Given the description of an element on the screen output the (x, y) to click on. 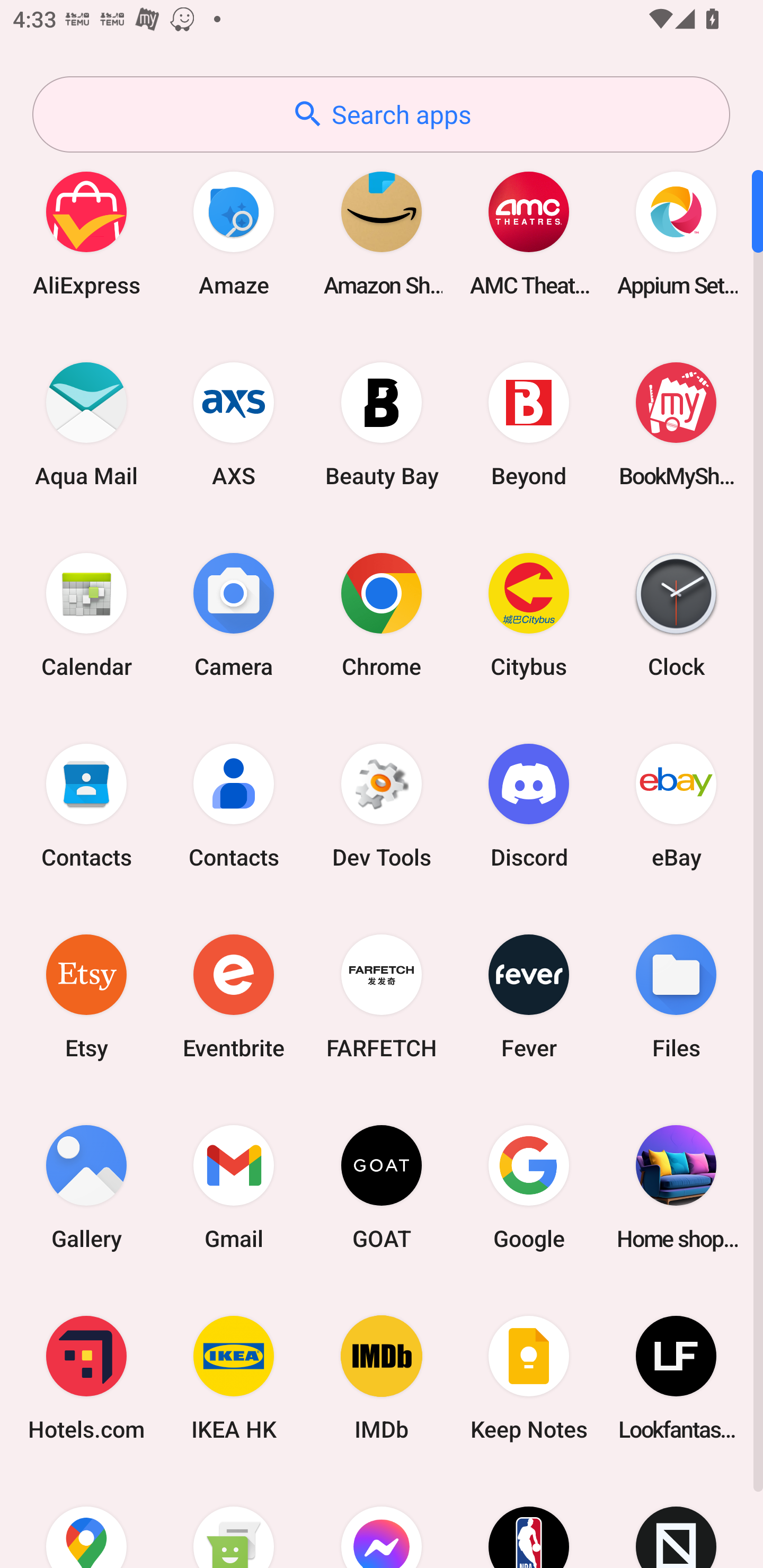
  Search apps (381, 114)
AliExpress (86, 233)
Amaze (233, 233)
Amazon Shopping (381, 233)
AMC Theatres (528, 233)
Appium Settings (676, 233)
Aqua Mail (86, 424)
AXS (233, 424)
Beauty Bay (381, 424)
Beyond (528, 424)
BookMyShow (676, 424)
Calendar (86, 614)
Camera (233, 614)
Chrome (381, 614)
Citybus (528, 614)
Clock (676, 614)
Contacts (86, 805)
Contacts (233, 805)
Dev Tools (381, 805)
Discord (528, 805)
eBay (676, 805)
Etsy (86, 996)
Eventbrite (233, 996)
FARFETCH (381, 996)
Fever (528, 996)
Files (676, 996)
Gallery (86, 1186)
Gmail (233, 1186)
GOAT (381, 1186)
Google (528, 1186)
Home shopping (676, 1186)
Hotels.com (86, 1377)
IKEA HK (233, 1377)
IMDb (381, 1377)
Keep Notes (528, 1377)
Lookfantastic (676, 1377)
Maps (86, 1520)
Messaging (233, 1520)
Messenger (381, 1520)
NBA (528, 1520)
Novelship (676, 1520)
